Given the description of an element on the screen output the (x, y) to click on. 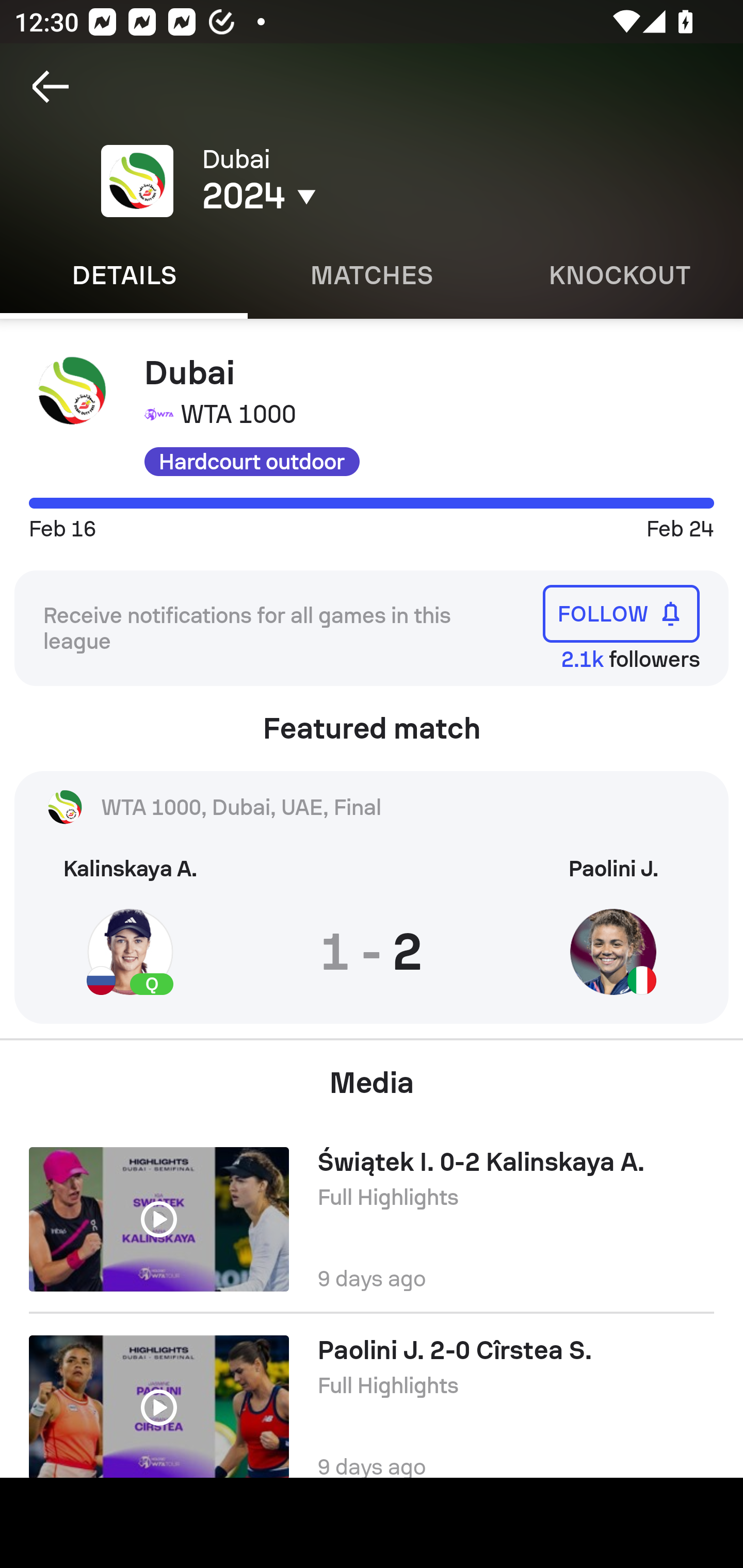
Navigate up (50, 86)
2024 (350, 195)
Matches MATCHES (371, 275)
Knockout KNOCKOUT (619, 275)
FOLLOW (621, 613)
